Given the description of an element on the screen output the (x, y) to click on. 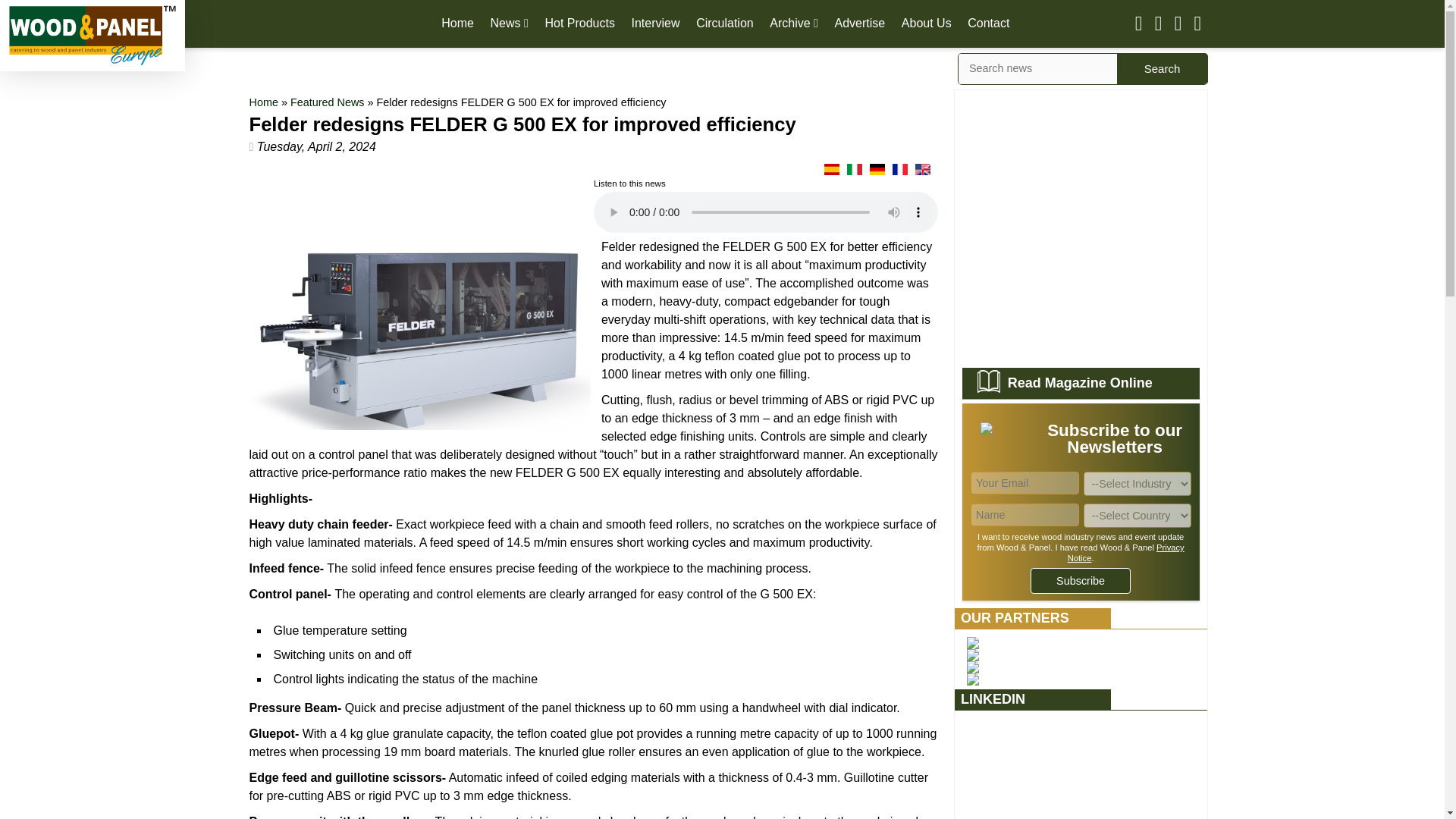
Subscribe (1080, 581)
Home (457, 22)
Contact (988, 22)
News (509, 22)
Interview (654, 22)
Embedded post (1081, 768)
Hot Products (579, 22)
Advertise (859, 22)
Search (1161, 68)
Archive (794, 22)
Home (263, 102)
Circulation (724, 22)
Featured News (327, 102)
About Us (926, 22)
